Given the description of an element on the screen output the (x, y) to click on. 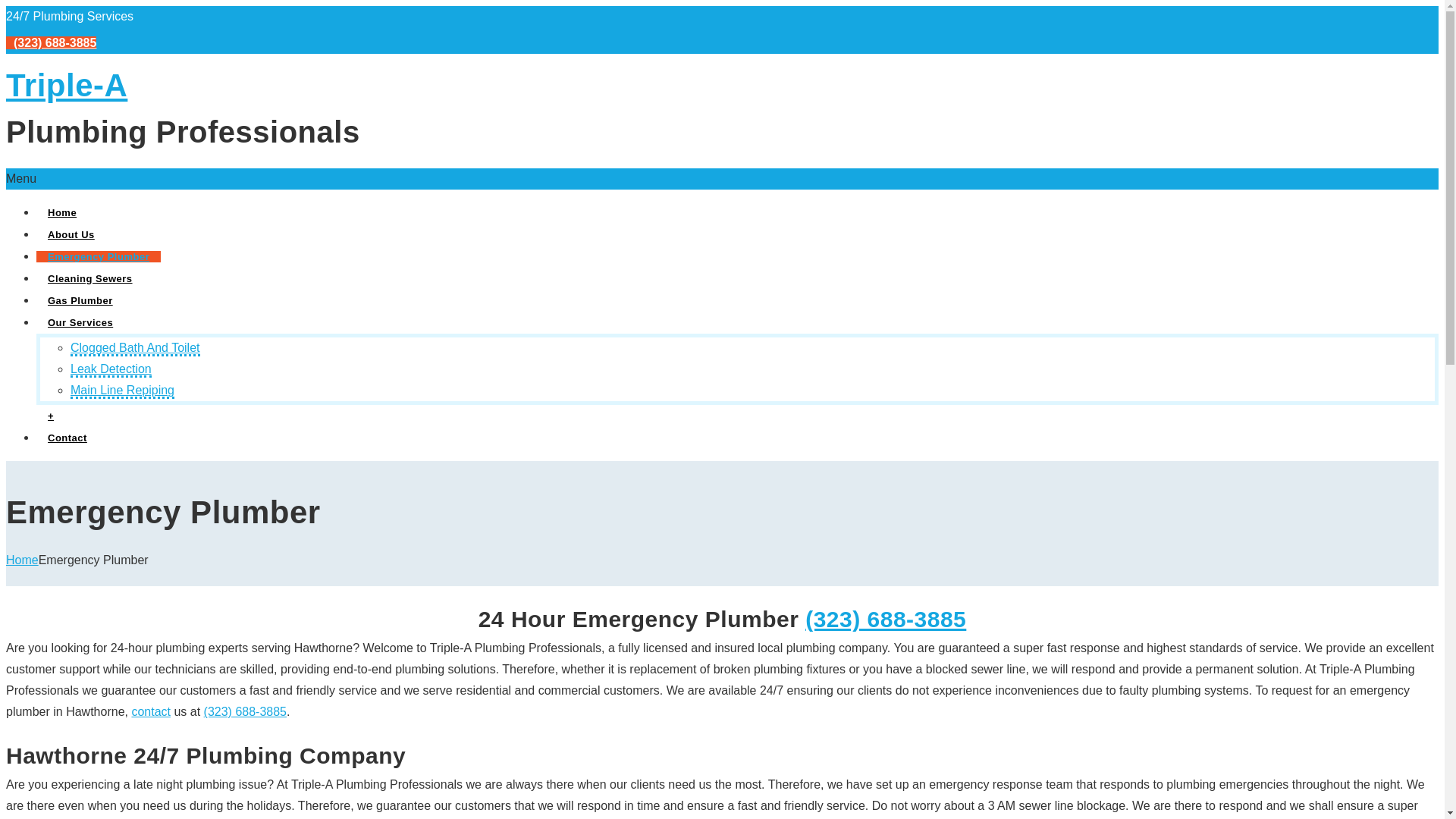
Clogged Bath And Toilet (134, 348)
contact (150, 711)
Contact (67, 437)
Home (22, 559)
Gas Plumber (79, 299)
Triple-A (66, 85)
Emergency Plumber (98, 255)
Home (61, 211)
Cleaning Sewers (90, 278)
Main Line Repiping (121, 391)
